Given the description of an element on the screen output the (x, y) to click on. 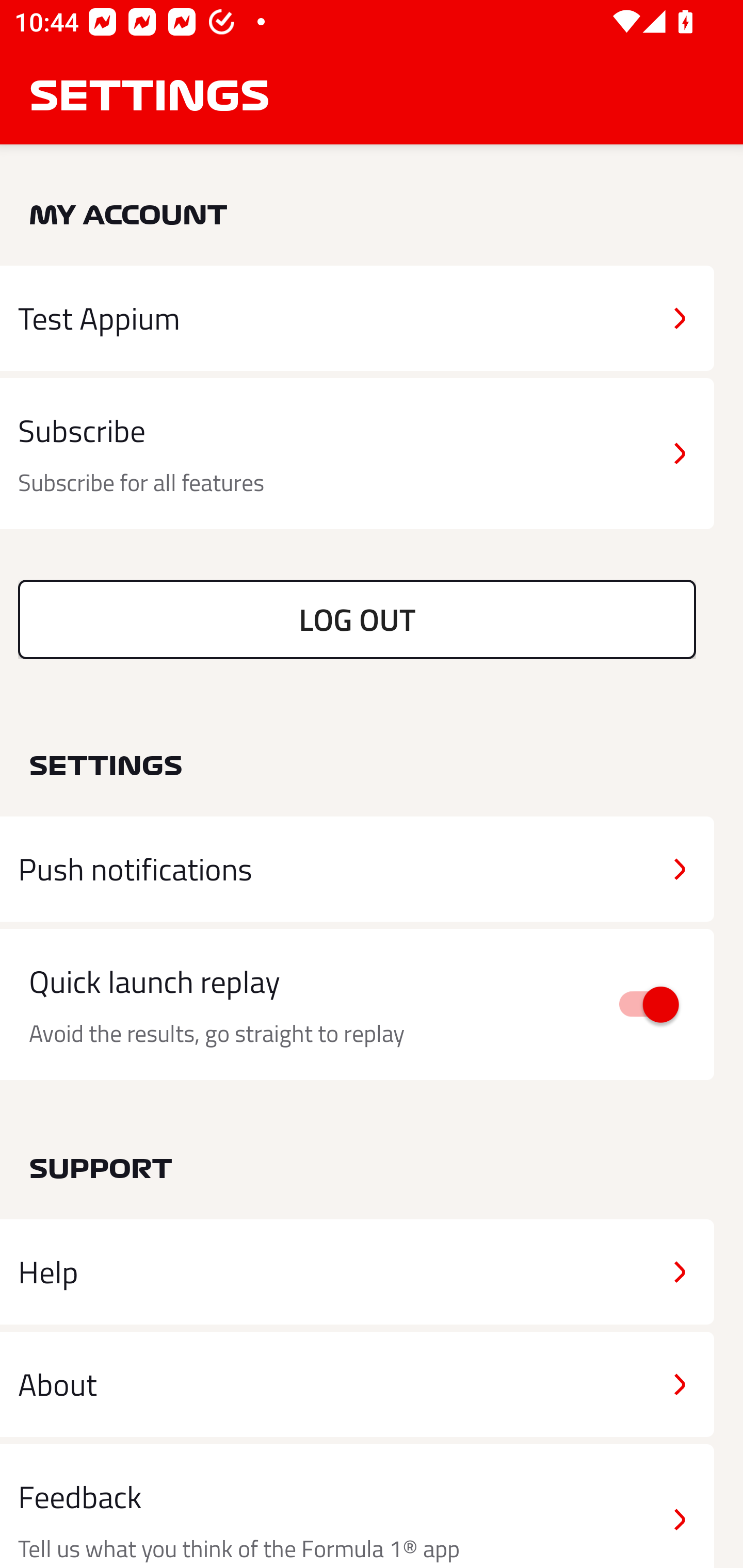
Test Appium (357, 317)
Subscribe Subscribe for all features (357, 453)
LOG OUT (356, 619)
Push notifications (357, 868)
Help (357, 1271)
About (357, 1383)
